Given the description of an element on the screen output the (x, y) to click on. 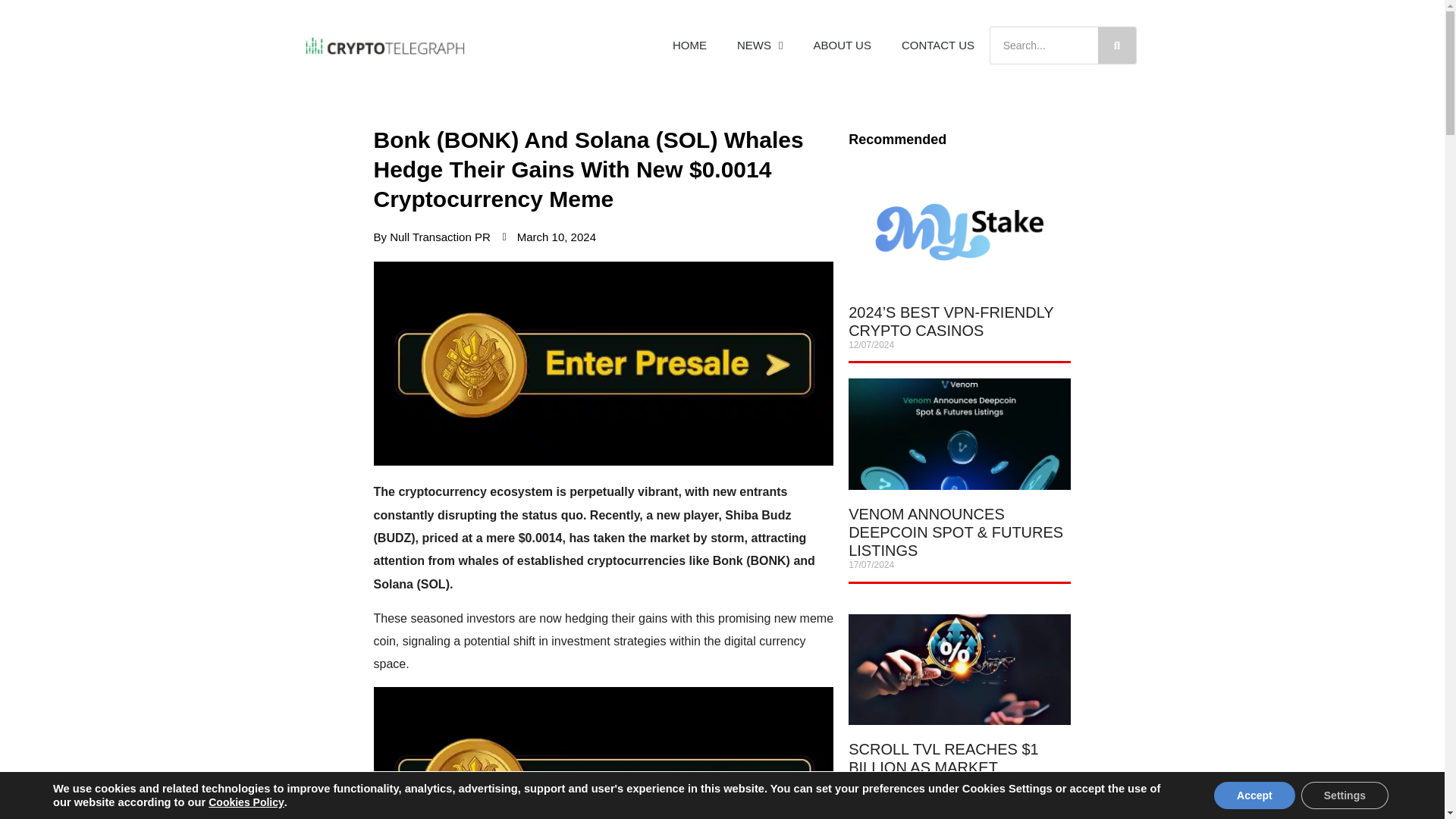
CONTACT US (938, 45)
ABOUT US (841, 45)
March 10, 2024 (548, 237)
NEWS (759, 45)
By Null Transaction PR (430, 237)
